Given the description of an element on the screen output the (x, y) to click on. 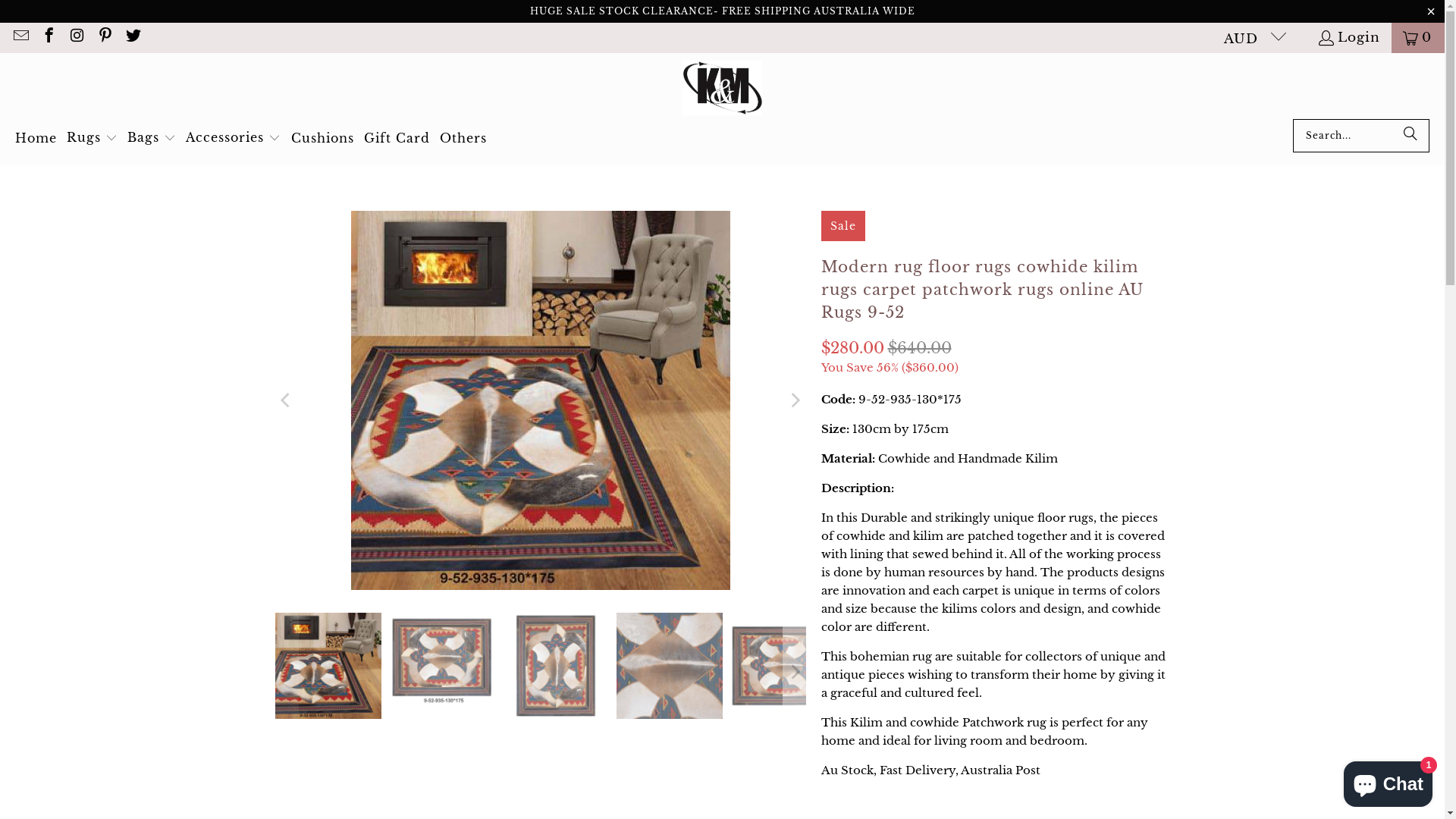
0 Element type: text (1417, 37)
Shopify online store chat Element type: hover (1388, 780)
AUD Element type: text (1248, 37)
KANDM PARSE LEATHER SHOP on Facebook Element type: hover (47, 37)
KANDM PARSE LEATHER SHOP Element type: hover (722, 89)
KANDM PARSE LEATHER SHOP on Instagram Element type: hover (75, 37)
Others Element type: text (462, 137)
Login Element type: text (1348, 37)
Home Element type: text (35, 137)
Email KANDM PARSE LEATHER SHOP Element type: hover (19, 37)
Cushions Element type: text (322, 137)
Gift Card Element type: text (396, 137)
KANDM PARSE LEATHER SHOP on Twitter Element type: hover (132, 37)
KANDM PARSE LEATHER SHOP on Pinterest Element type: hover (103, 37)
